Given the description of an element on the screen output the (x, y) to click on. 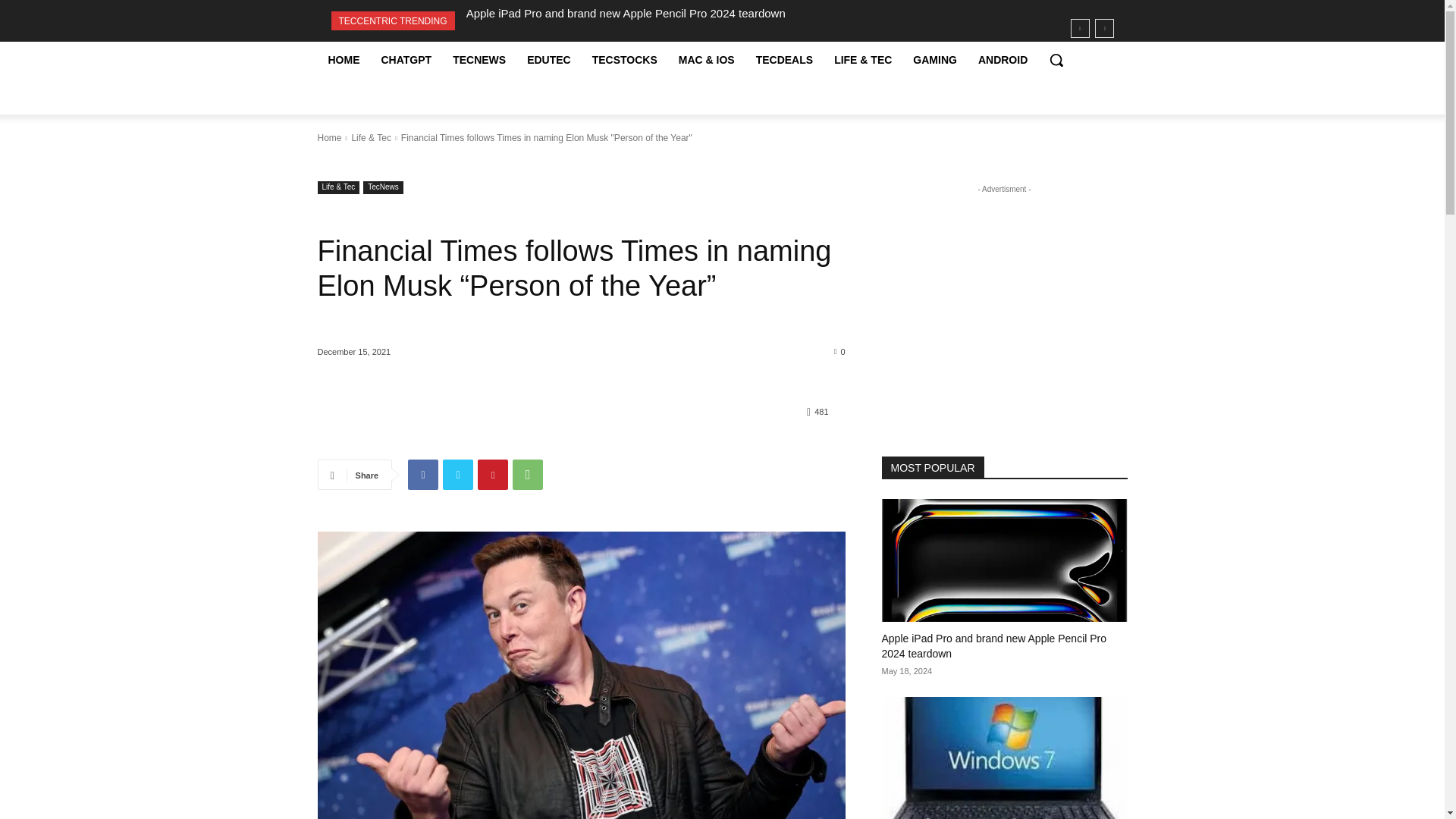
HOME (343, 59)
Facebook (422, 474)
Apple iPad Pro and brand new Apple Pencil Pro 2024 teardown (625, 12)
Pinterest (492, 474)
Home (328, 137)
0 (839, 350)
ANDROID (1003, 59)
TECNEWS (479, 59)
WhatsApp (527, 474)
TECSTOCKS (624, 59)
